Given the description of an element on the screen output the (x, y) to click on. 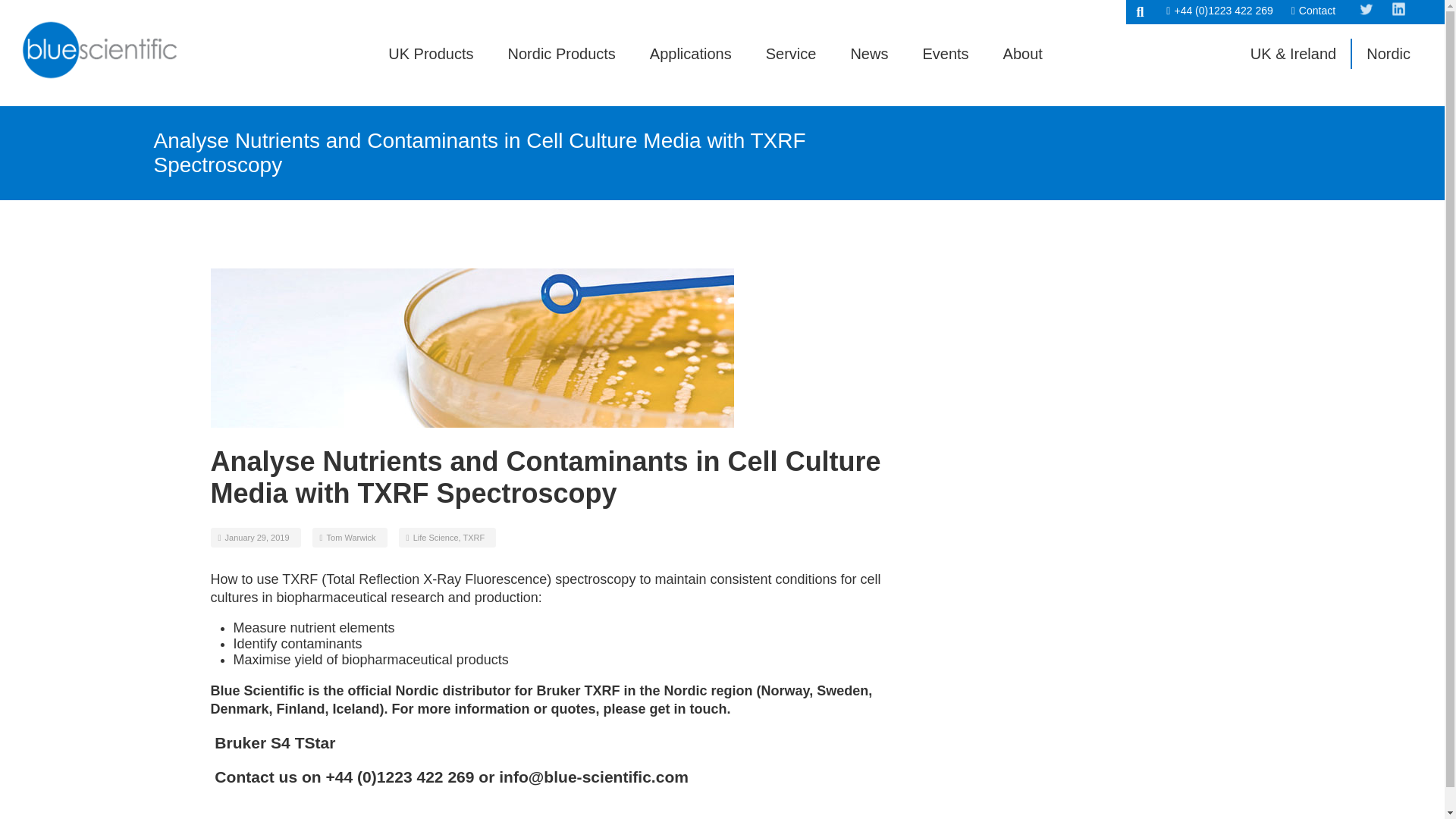
LinkedIn (1398, 12)
News (869, 53)
UK Products (430, 53)
Twitter (1365, 12)
About (1022, 53)
Events (944, 53)
Applications (690, 53)
Nordic (1388, 53)
Nordic Products (561, 53)
Service (790, 53)
Contact (1313, 10)
Tom Warwick (350, 537)
Life Science (435, 537)
View all posts by Tom Warwick (350, 537)
